Given the description of an element on the screen output the (x, y) to click on. 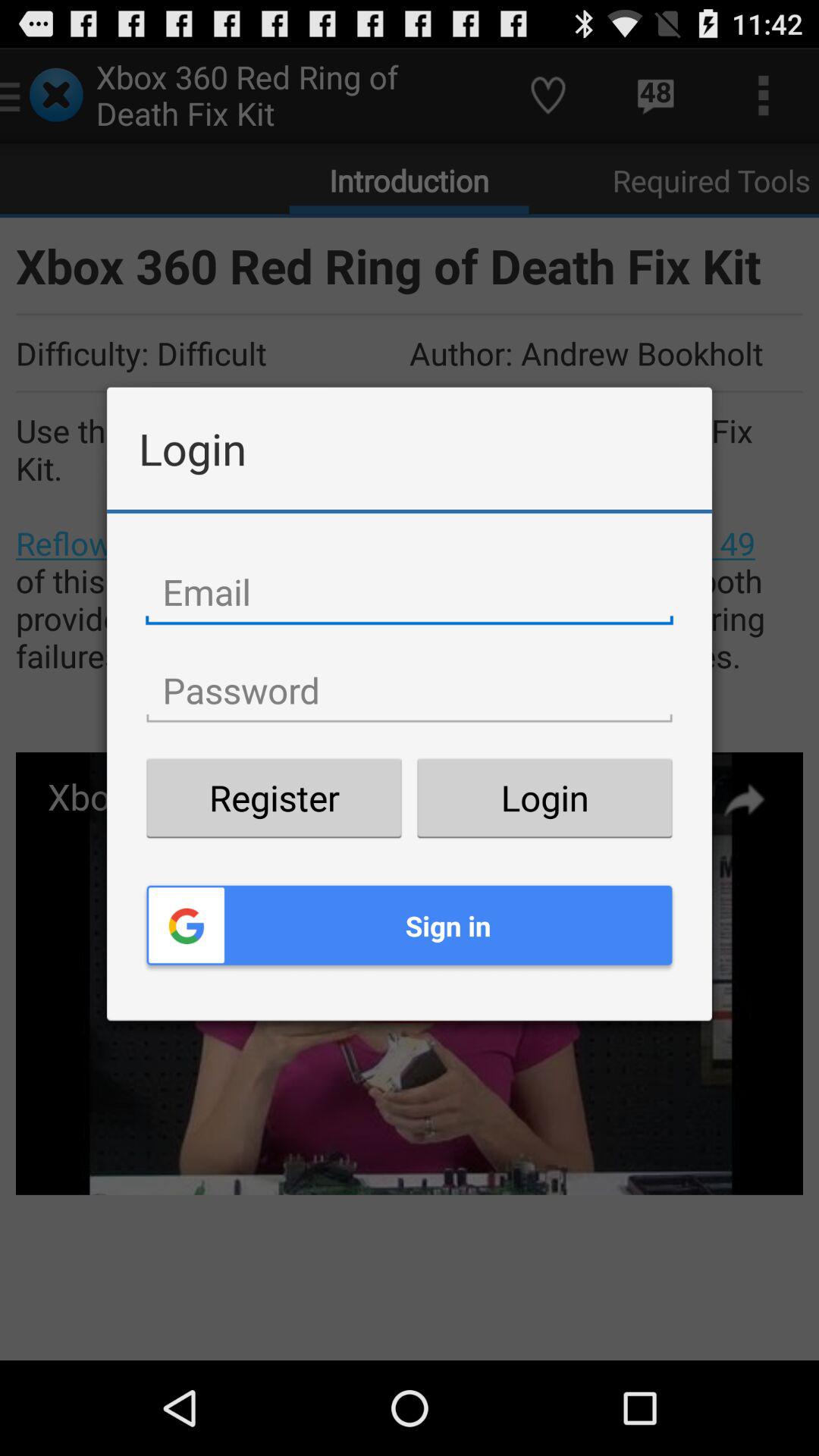
flip until the register button (273, 797)
